Given the description of an element on the screen output the (x, y) to click on. 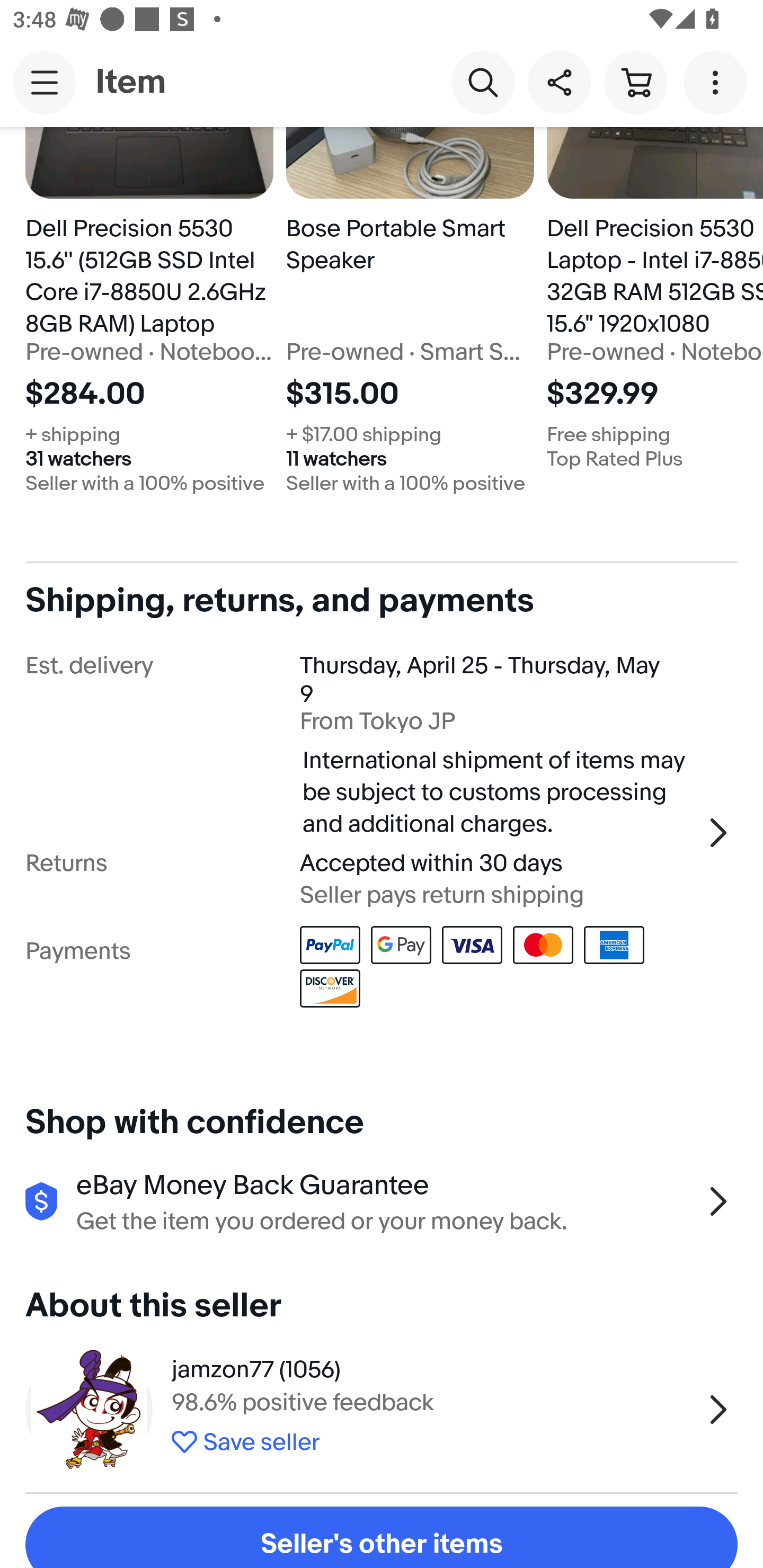
Main navigation, open (44, 82)
Search (482, 81)
Share this item (559, 81)
Cart button shopping cart (635, 81)
More options (718, 81)
Save seller (431, 1438)
Seller's other items (381, 1537)
